Given the description of an element on the screen output the (x, y) to click on. 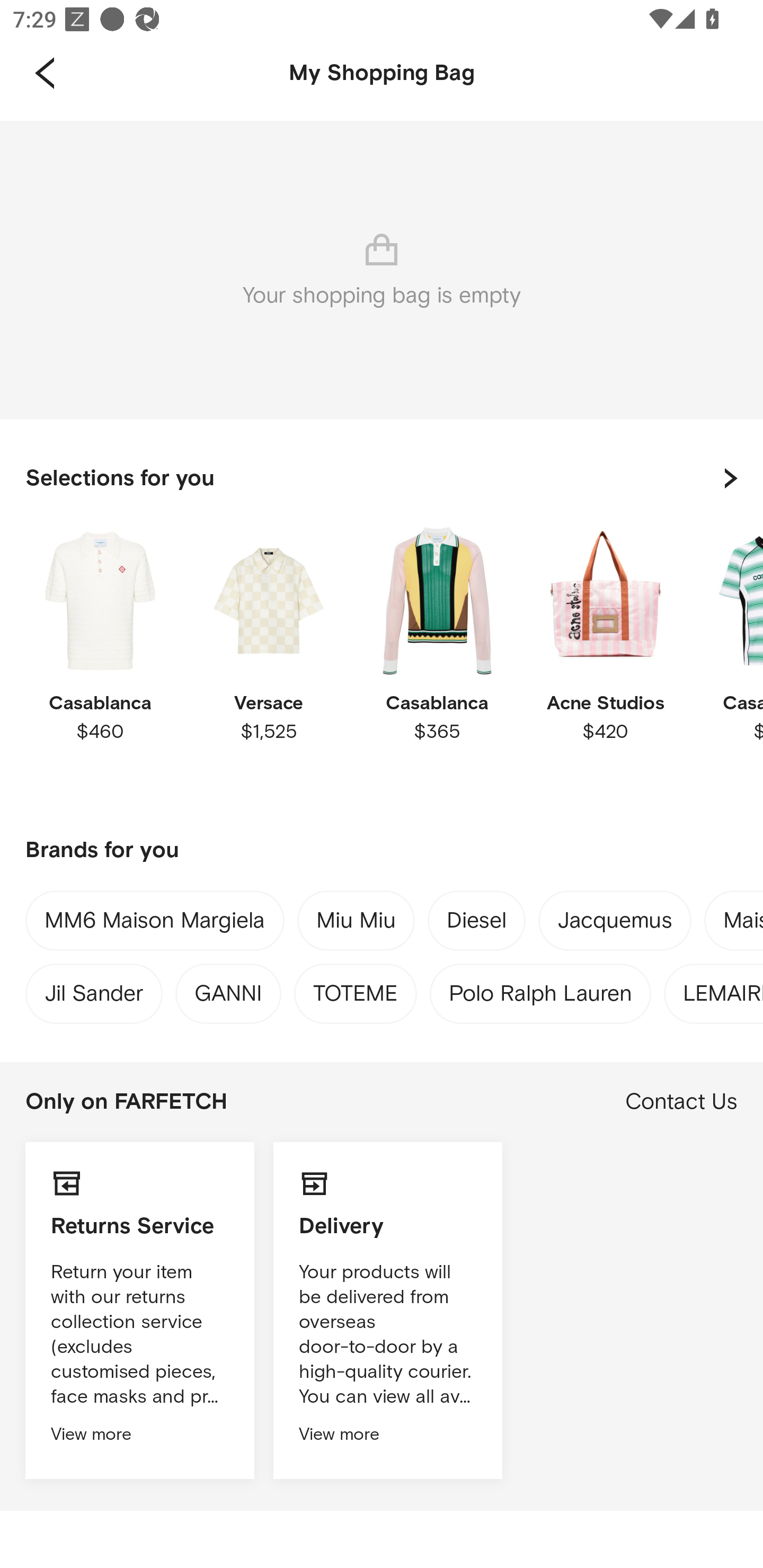
Selections for you (381, 477)
Casablanca $460 (100, 660)
Versace $1,525 (268, 660)
Casablanca $365 (436, 660)
Acne Studios $420 (605, 660)
Brands for you (381, 850)
MM6 Maison Margiela (154, 924)
Miu Miu (355, 922)
Diesel (476, 924)
Jacquemus (614, 924)
Jil Sander (93, 988)
GANNI (227, 988)
TOTEME (355, 988)
Polo Ralph Lauren (539, 988)
LEMAIRE (722, 988)
Contact Us (680, 1101)
